Given the description of an element on the screen output the (x, y) to click on. 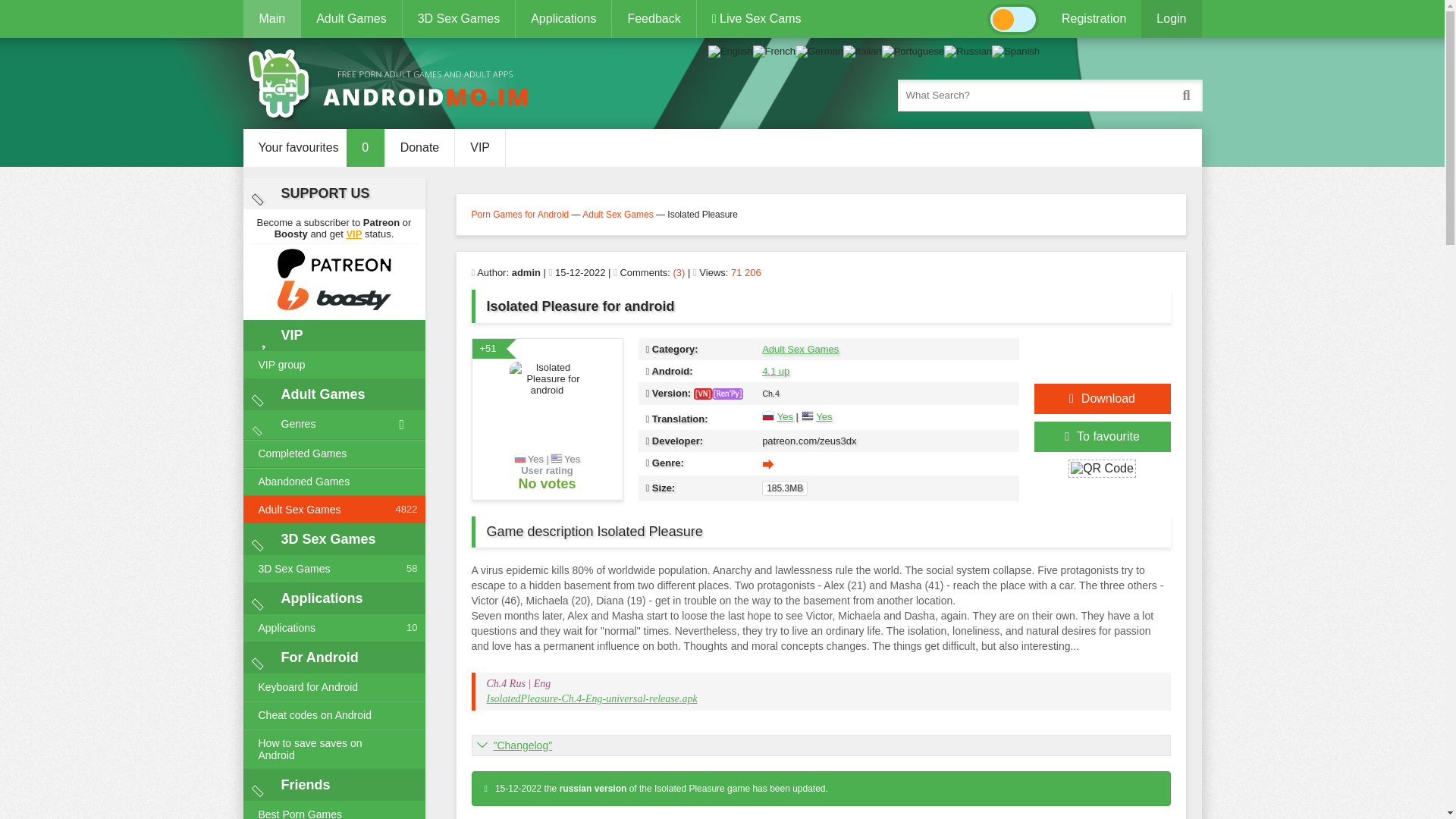
French (773, 50)
Portuguese (913, 50)
Registration (1093, 18)
VIP group (334, 365)
VIP (353, 233)
Donate (420, 147)
Free Porn Adult Games And Apps For Android (394, 83)
VIP (479, 147)
English (729, 50)
Live Sex Cams (755, 18)
